Given the description of an element on the screen output the (x, y) to click on. 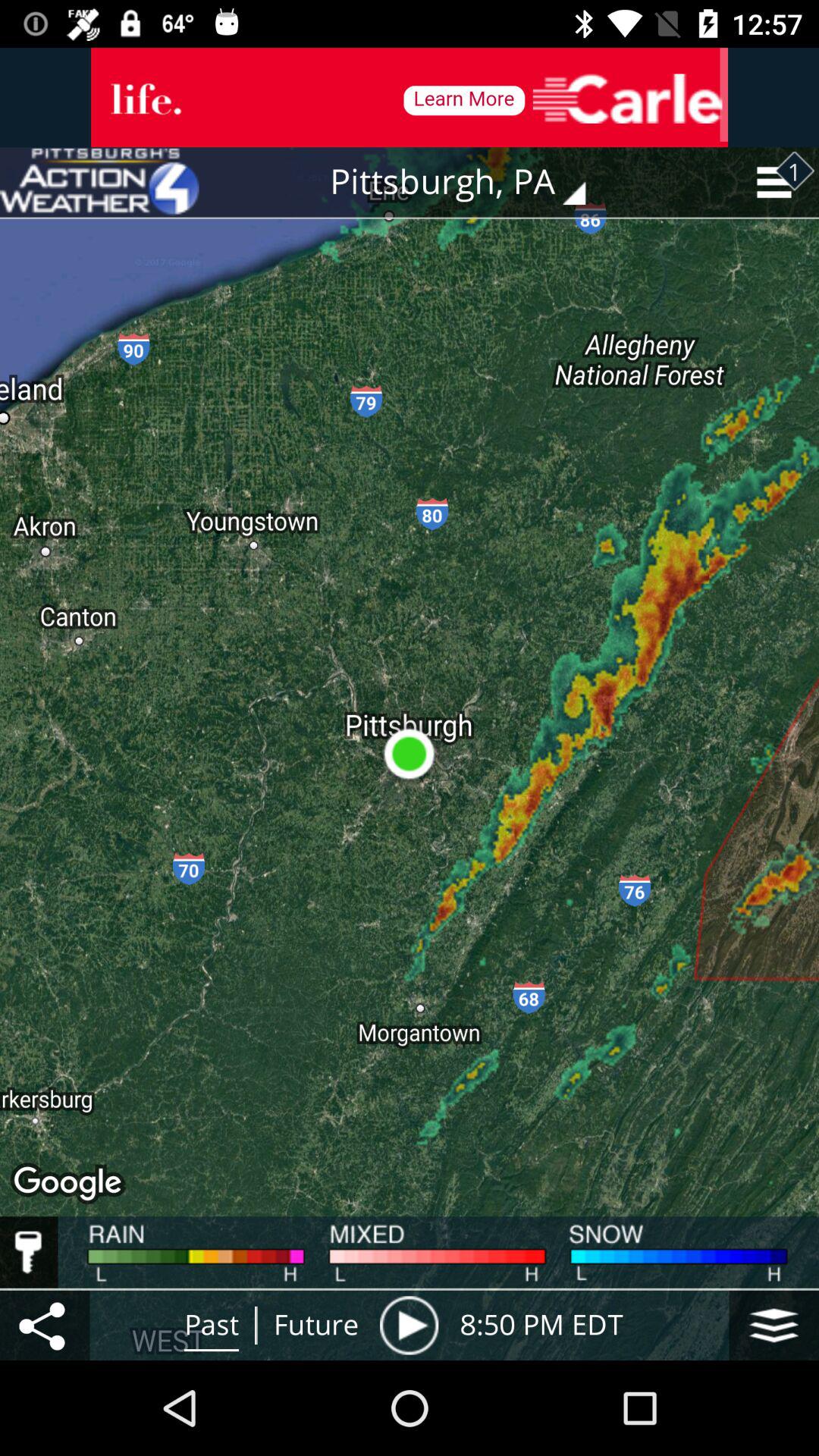
scroll until the pittsburgh, pa item (468, 182)
